Given the description of an element on the screen output the (x, y) to click on. 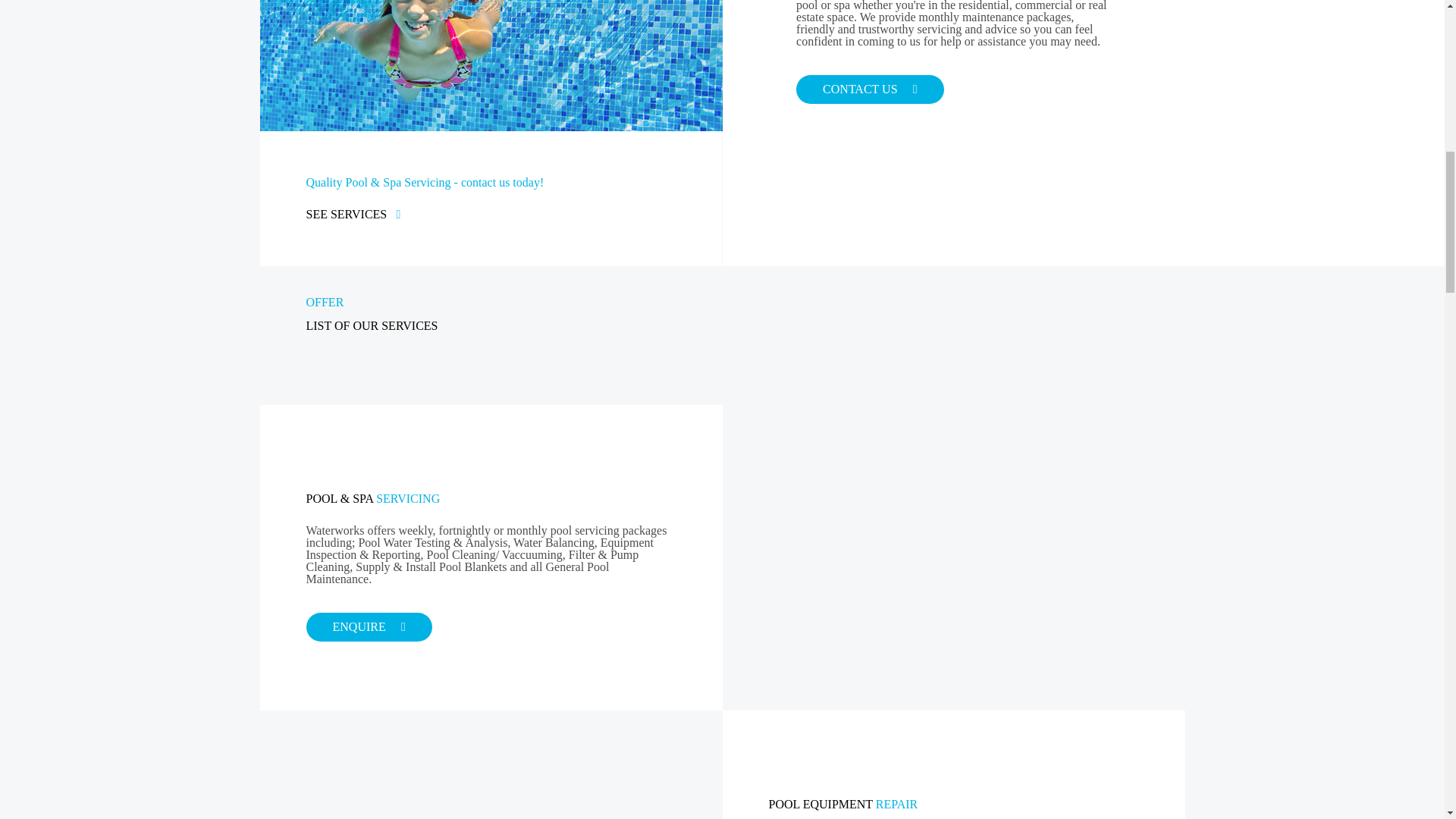
ENQUIRE (368, 626)
CONTACT US (869, 89)
SEE SERVICES (346, 214)
pool1 (490, 65)
